Given the description of an element on the screen output the (x, y) to click on. 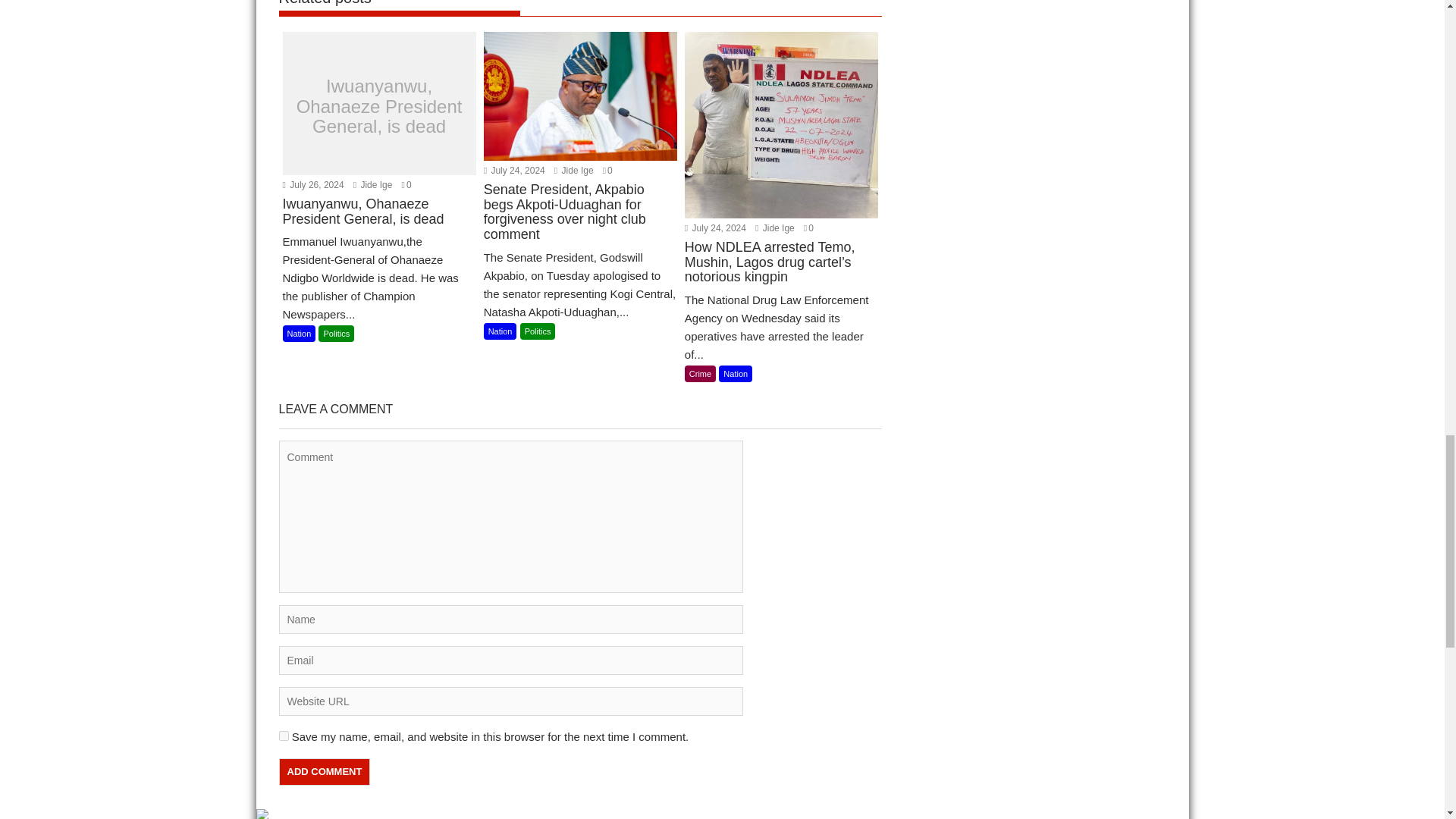
Jide Ige (774, 227)
yes (283, 736)
Add Comment (325, 771)
Jide Ige (574, 170)
Jide Ige (373, 184)
